Given the description of an element on the screen output the (x, y) to click on. 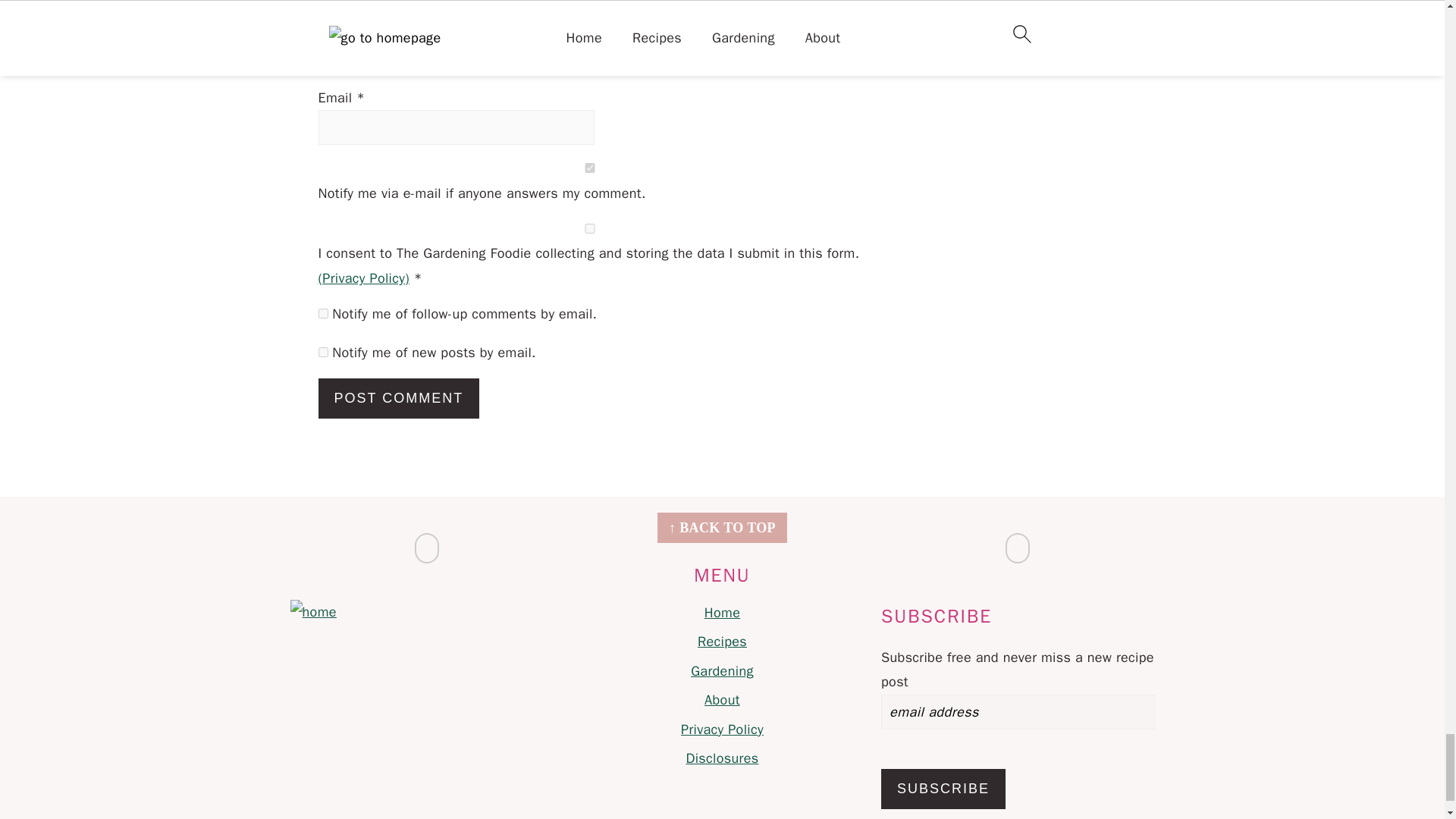
subscribe (323, 352)
yes (589, 228)
on (589, 167)
subscribe (323, 313)
Subscribe (943, 789)
Post Comment (399, 398)
